Given the description of an element on the screen output the (x, y) to click on. 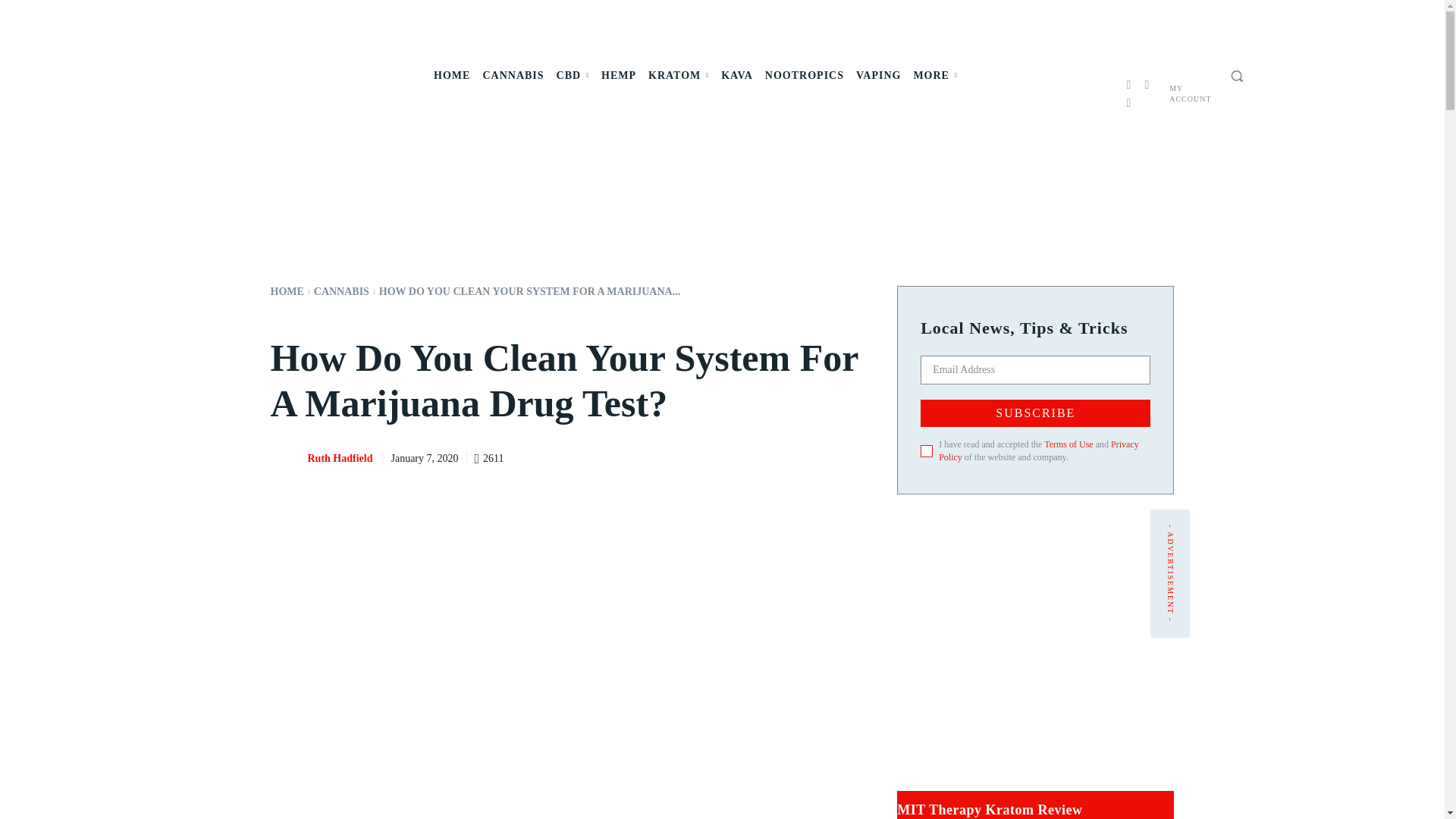
View all posts in Cannabis (341, 291)
Facebook (1128, 85)
Twitter (1128, 103)
Instagram (1146, 85)
Ruth Hadfield (286, 458)
